Given the description of an element on the screen output the (x, y) to click on. 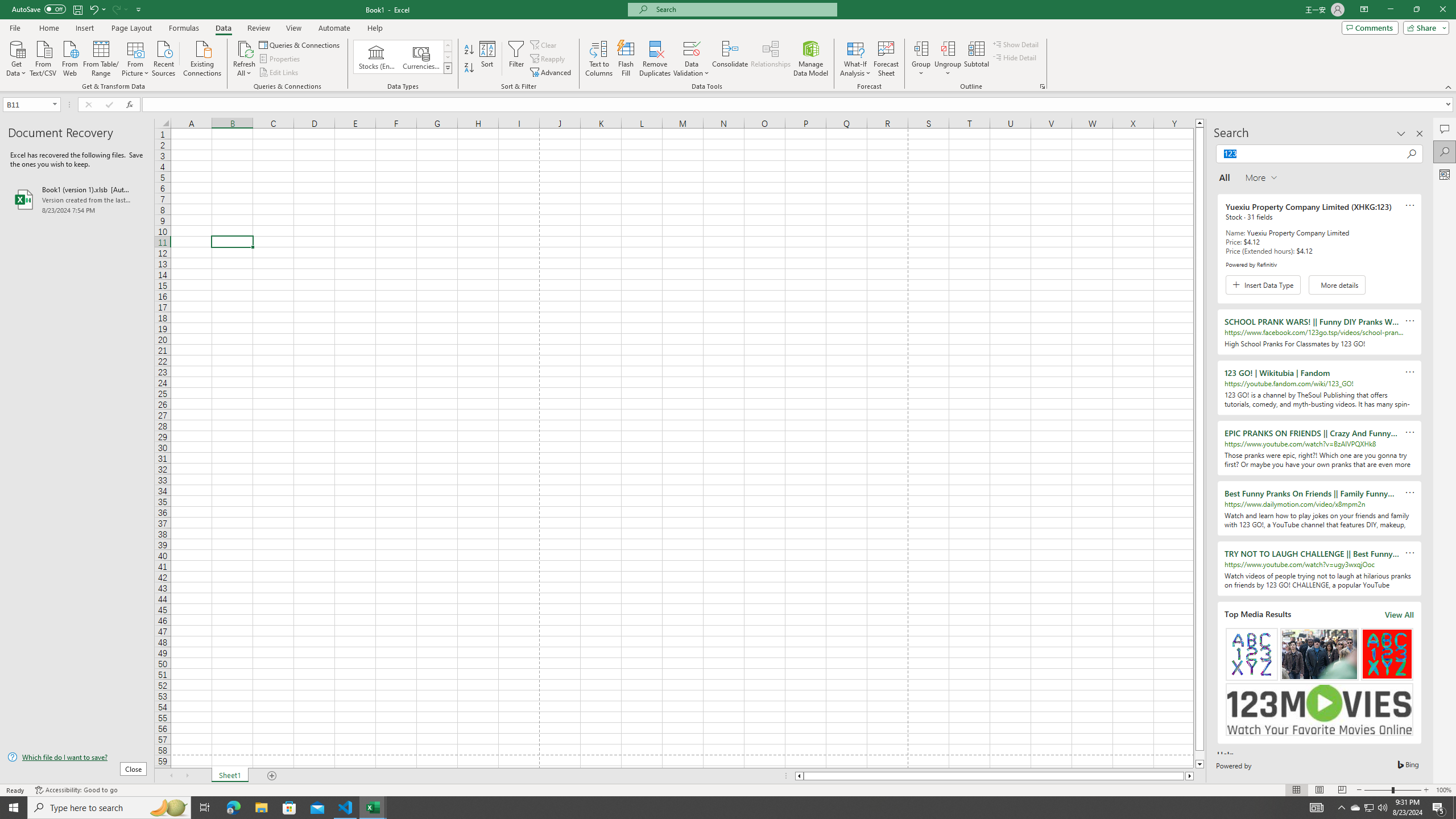
Reapply (548, 58)
Forecast Sheet (885, 58)
From Picture (135, 57)
Hide Detail (1014, 56)
From Table/Range (100, 57)
Show Detail (1016, 44)
